Given the description of an element on the screen output the (x, y) to click on. 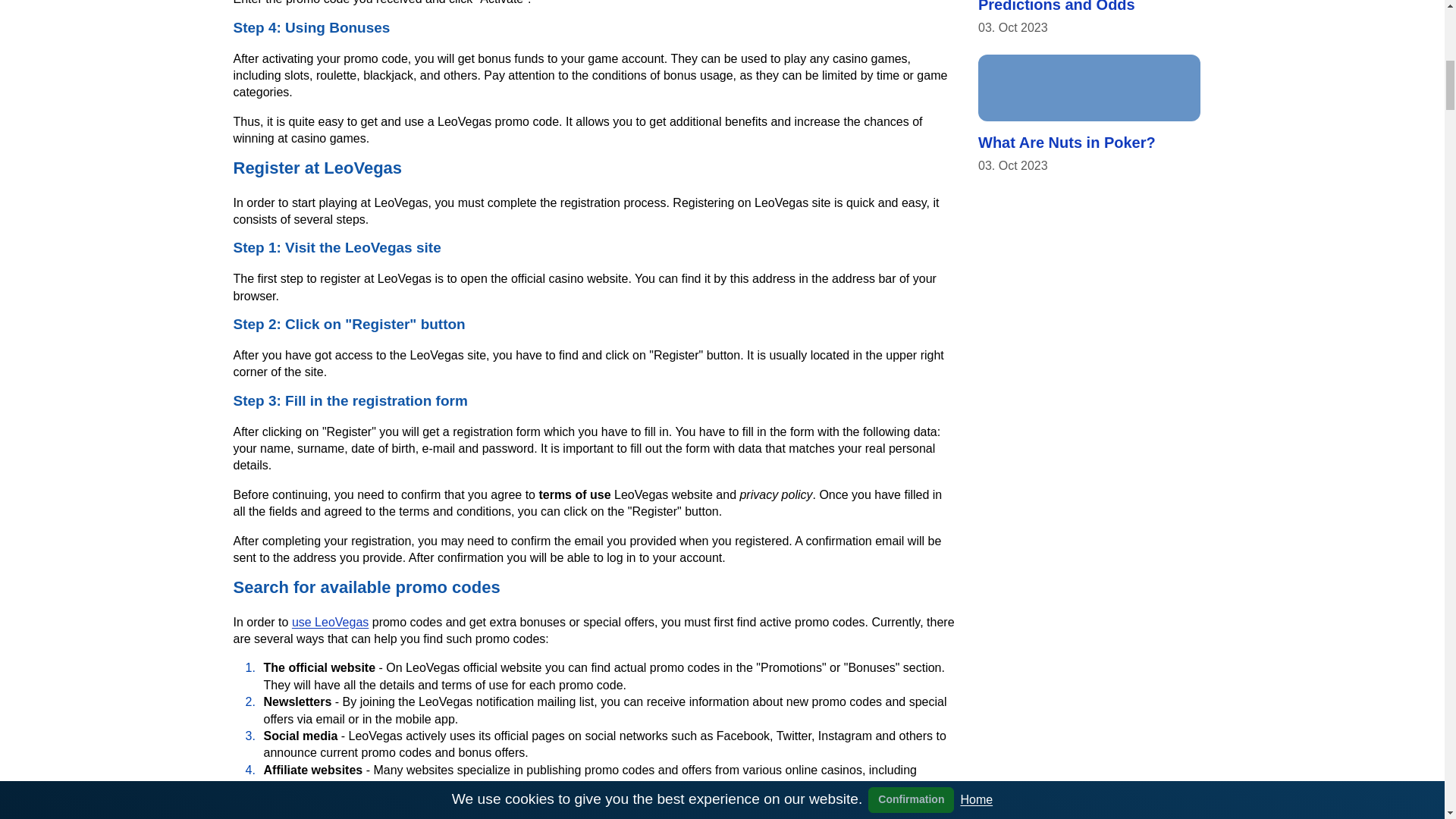
codes for LeoVegas (703, 786)
What Are Nuts in Poker? (1067, 142)
use LeoVegas (330, 621)
2024 Presidential Election: Predictions and Odds (1074, 6)
What Are Nuts in Poker? (1088, 87)
